Given the description of an element on the screen output the (x, y) to click on. 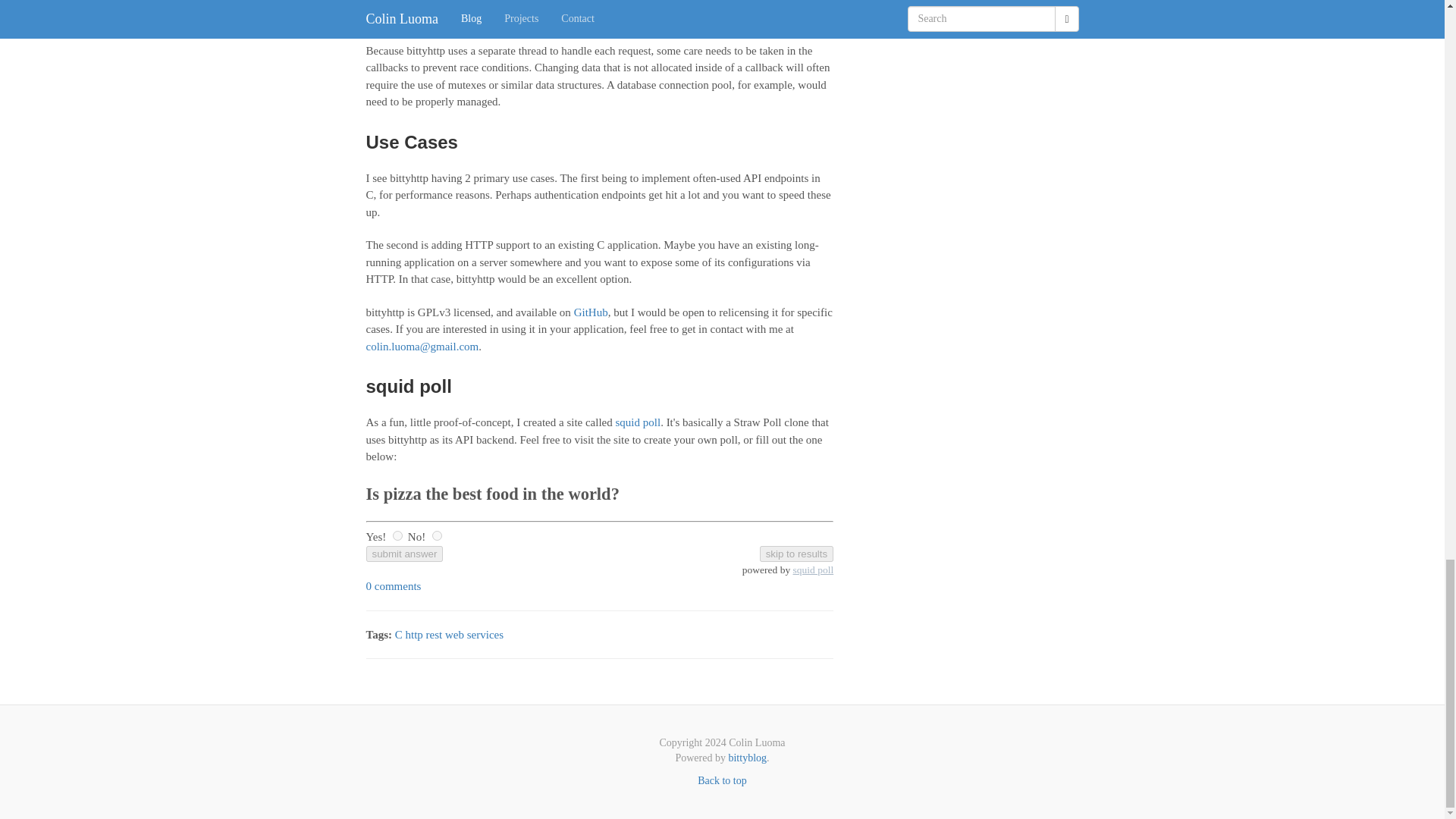
web services (474, 634)
http (413, 634)
0 comments (392, 585)
GitHub (590, 312)
C (398, 634)
squid poll (638, 422)
rest (434, 634)
